Given the description of an element on the screen output the (x, y) to click on. 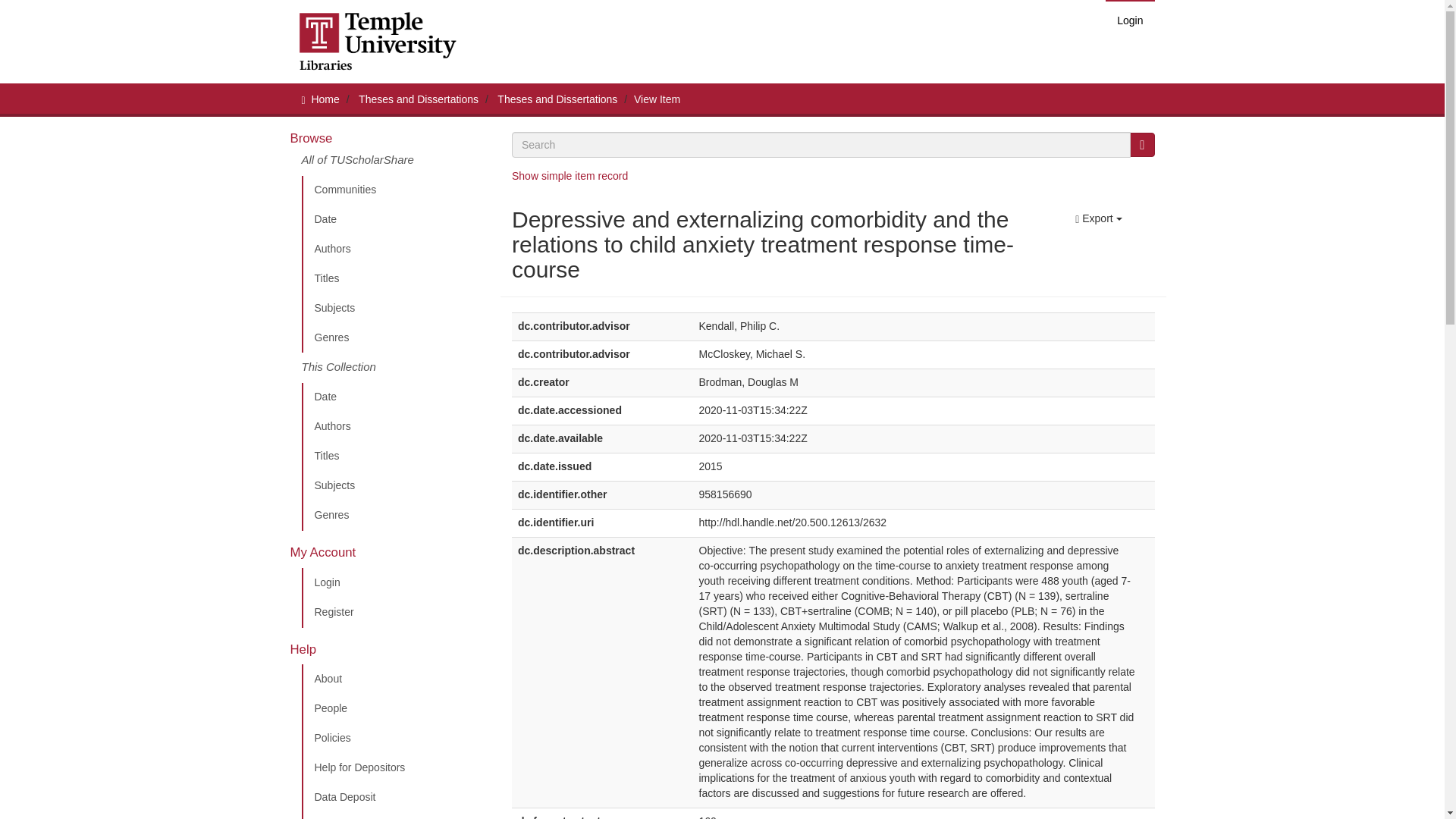
Help for Depositors (395, 767)
About (395, 679)
Date (395, 397)
This Collection (395, 367)
Export (1098, 218)
FAQs (395, 815)
Home (325, 99)
Policies (395, 738)
Date (395, 219)
Theses and Dissertations (557, 99)
